Given the description of an element on the screen output the (x, y) to click on. 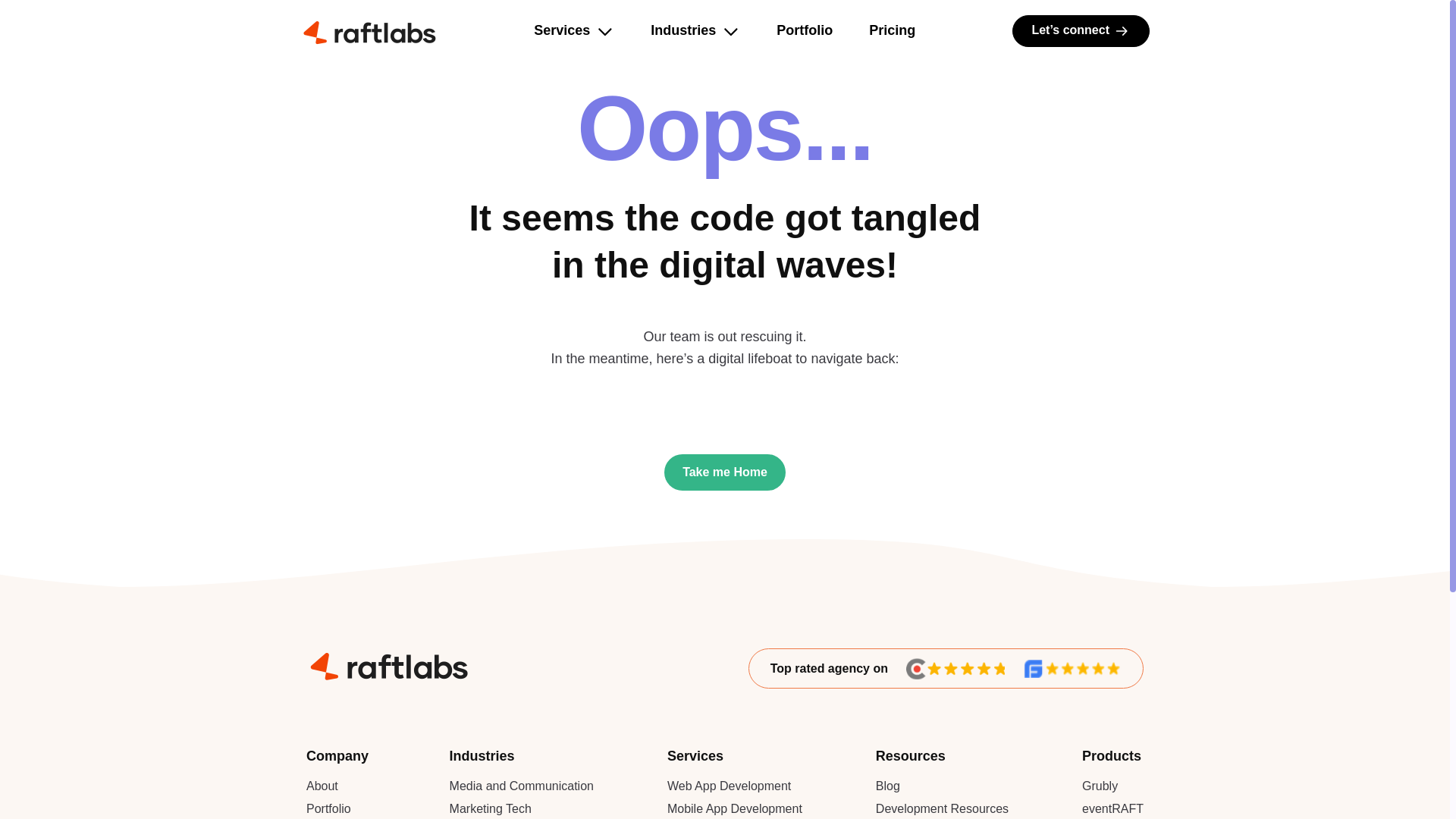
Take me Home (724, 472)
Clutch Rating (954, 668)
Portfolio (804, 29)
About (321, 785)
Services (561, 30)
RaftLabs (367, 30)
Industries (683, 30)
Pricing (892, 29)
RaftLabs (386, 664)
Portfolio (327, 808)
